Given the description of an element on the screen output the (x, y) to click on. 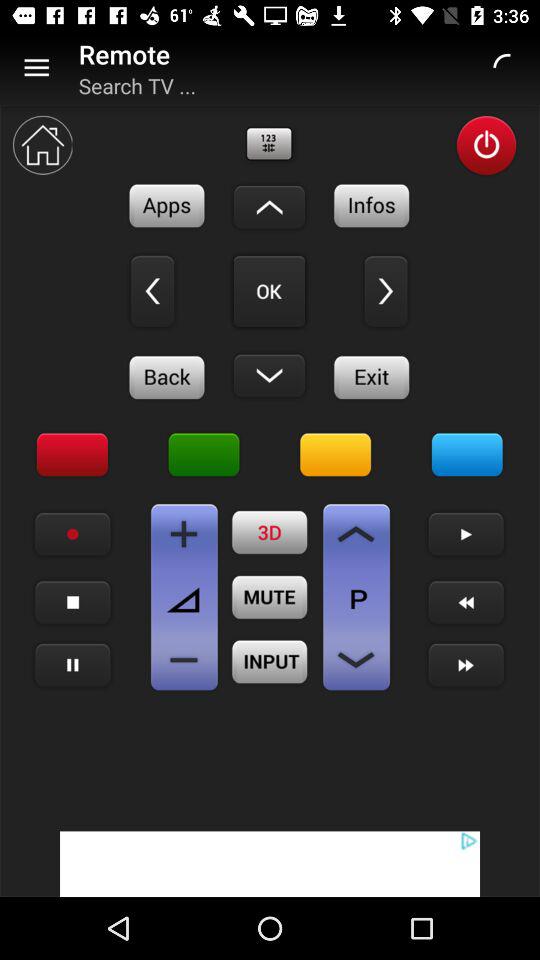
record icon (72, 534)
